Given the description of an element on the screen output the (x, y) to click on. 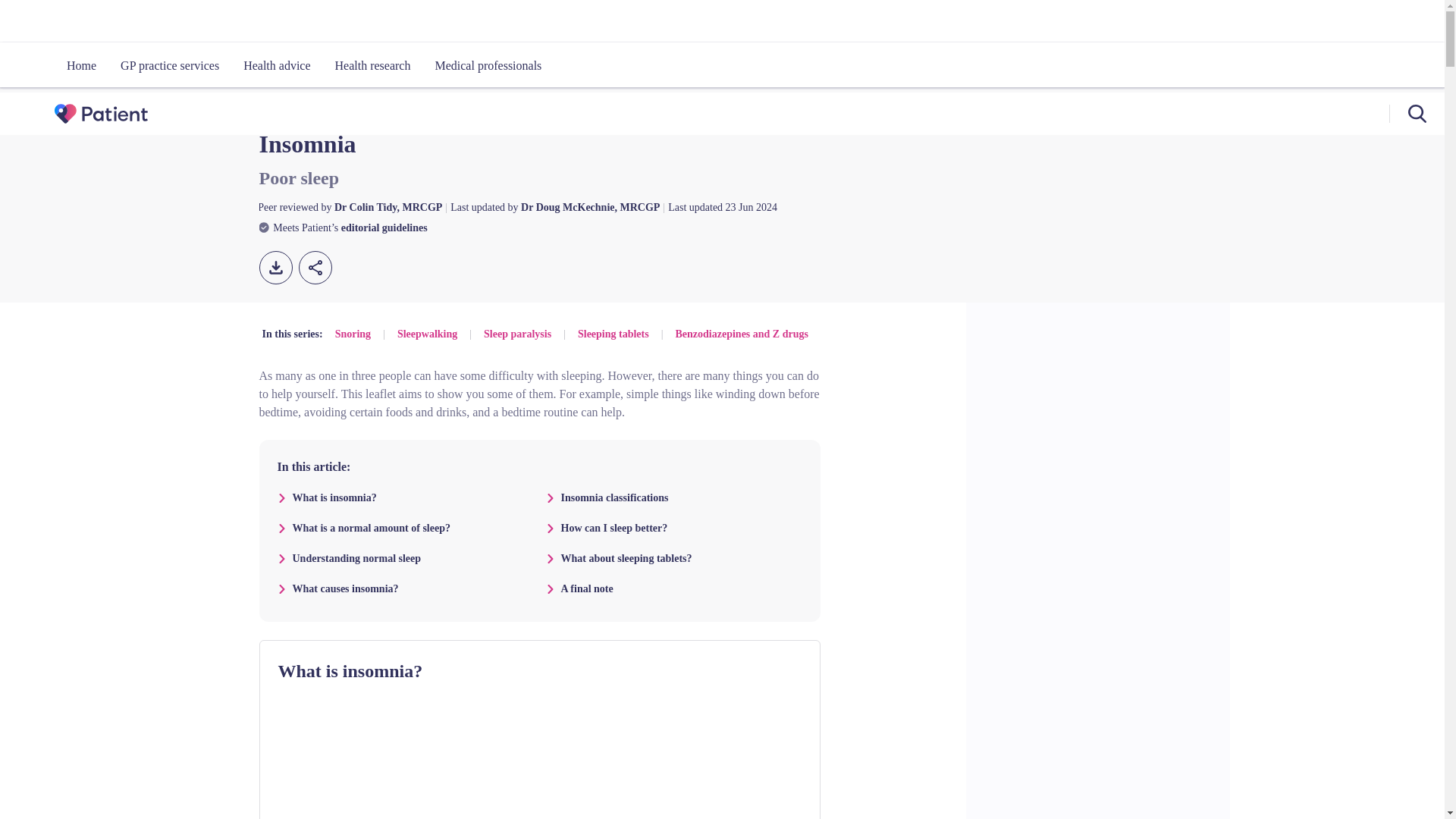
Home (81, 65)
GP practice services (169, 65)
Medical professionals (487, 65)
Health research (373, 65)
Health advice (276, 65)
